Given the description of an element on the screen output the (x, y) to click on. 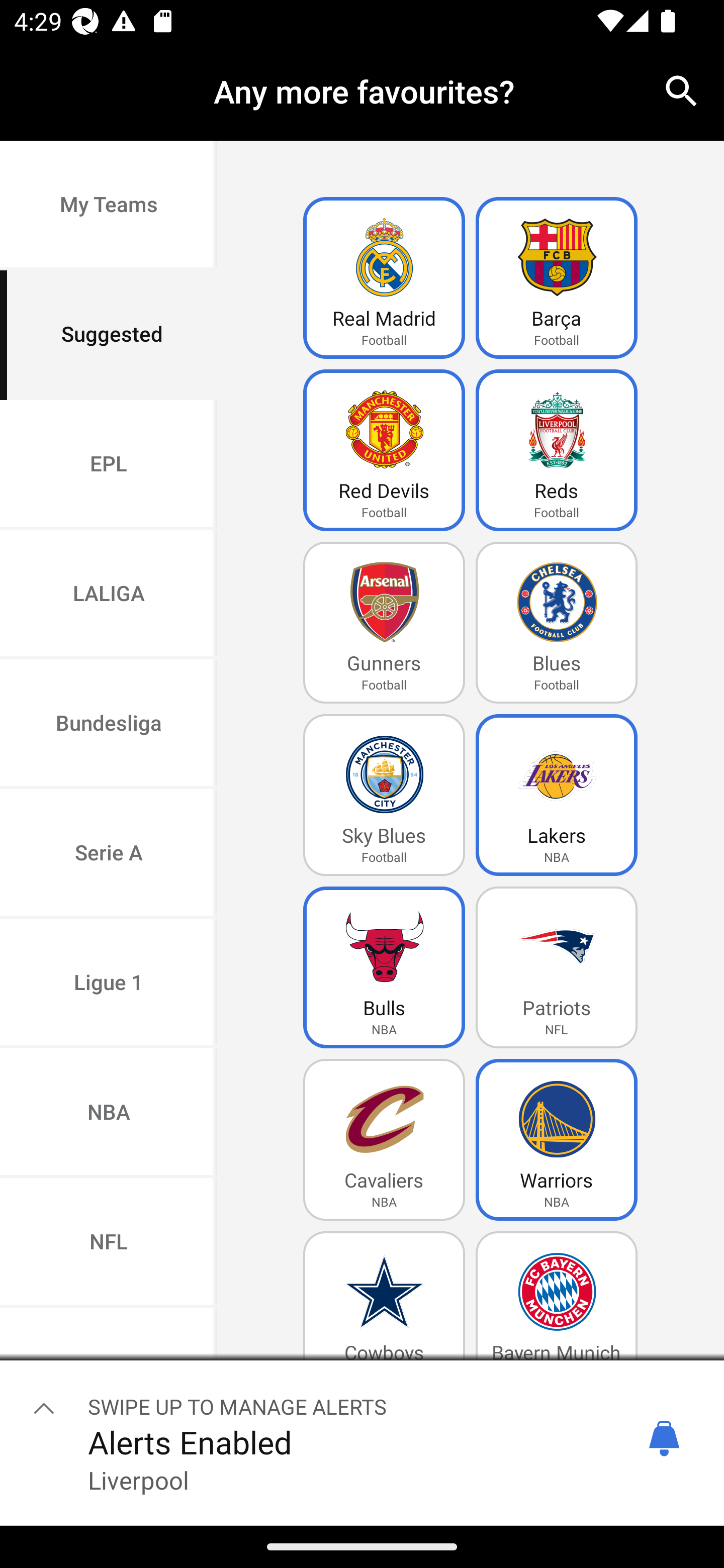
search (681, 90)
My Teams (108, 206)
Real Madrid Real MadridSelected Football (383, 278)
Barça BarçaSelected Football (556, 278)
Suggested (108, 334)
Red Devils Red DevilsSelected Football (383, 450)
Reds RedsSelected Football (556, 450)
EPL (108, 464)
LALIGA (108, 594)
Gunners Gunners Football (383, 623)
Blues Blues Football (556, 623)
Bundesliga (108, 725)
Sky Blues Sky Blues Football (383, 794)
Lakers LakersSelected NBA (556, 794)
Serie A (108, 853)
Bulls BullsSelected NBA (383, 966)
Patriots Patriots NFL (556, 966)
Ligue 1 (108, 983)
NBA (108, 1113)
Cavaliers Cavaliers NBA (383, 1139)
